Given the description of an element on the screen output the (x, y) to click on. 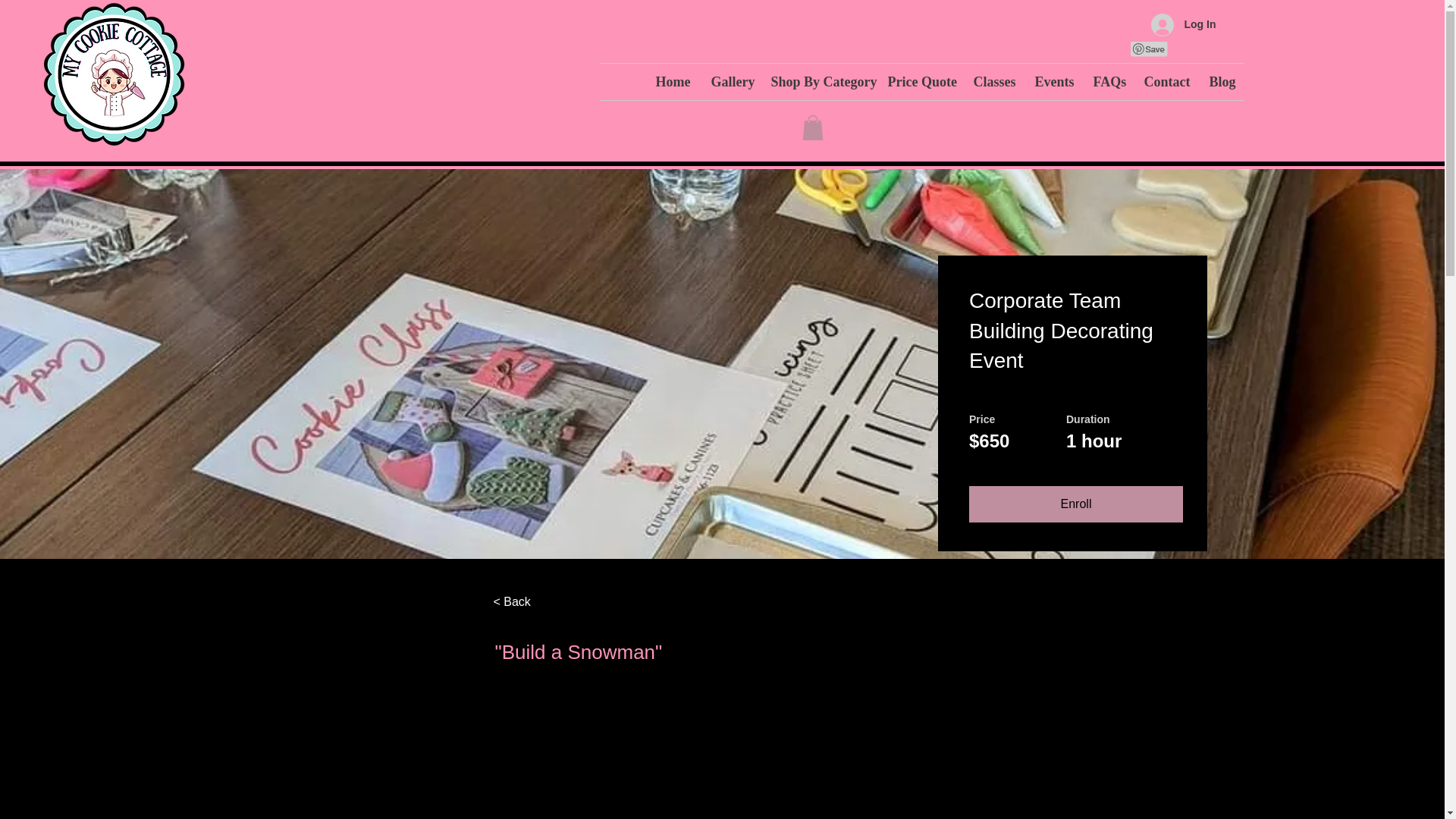
FAQs (1106, 81)
Classes (991, 81)
Gallery (728, 81)
Home (672, 81)
Blog (1221, 81)
Pin to Pinterest (1148, 48)
Contact (1165, 81)
Log In (1183, 24)
Events (1052, 81)
Price Quote (919, 81)
